Given the description of an element on the screen output the (x, y) to click on. 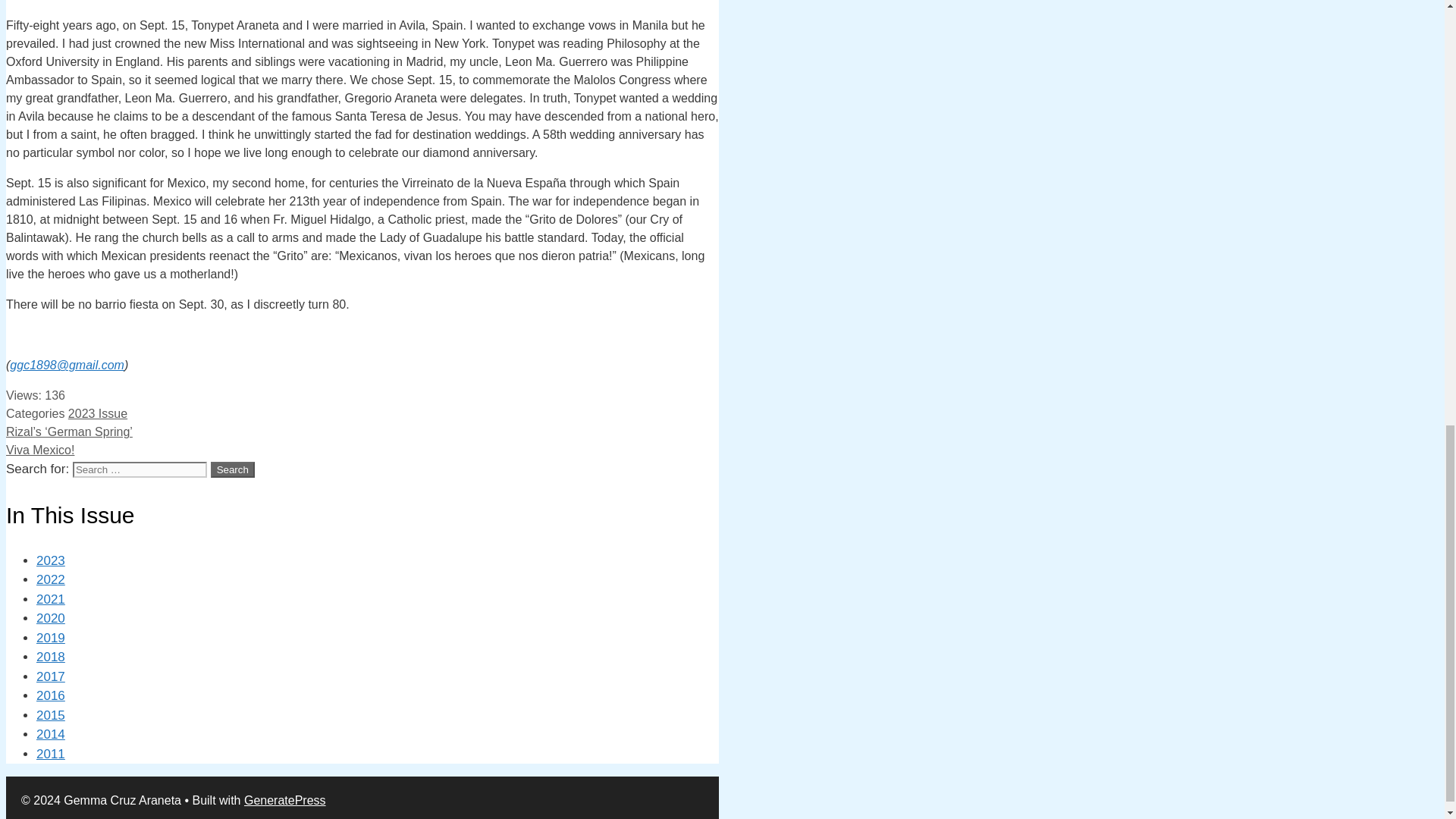
Search (232, 469)
2014 (50, 734)
2022 (50, 579)
GeneratePress (285, 799)
Search (232, 469)
Search (232, 469)
2023 Issue (98, 413)
2019 (50, 637)
Viva Mexico! (39, 449)
2015 (50, 715)
2020 (50, 617)
2017 (50, 676)
2011 (50, 753)
Search for: (139, 469)
2021 (50, 599)
